Given the description of an element on the screen output the (x, y) to click on. 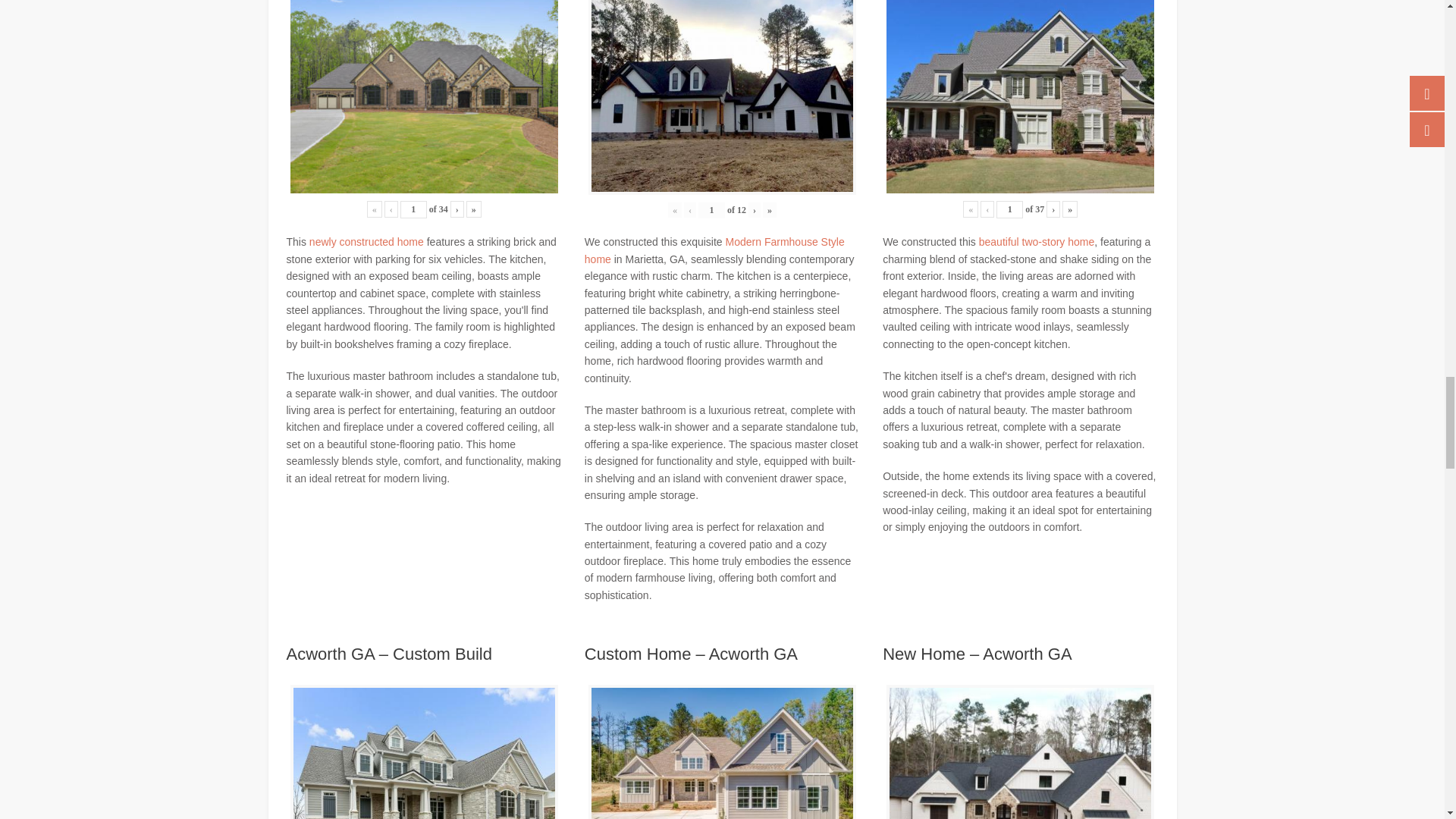
1 (711, 210)
1 (1009, 209)
1 (413, 209)
